Given the description of an element on the screen output the (x, y) to click on. 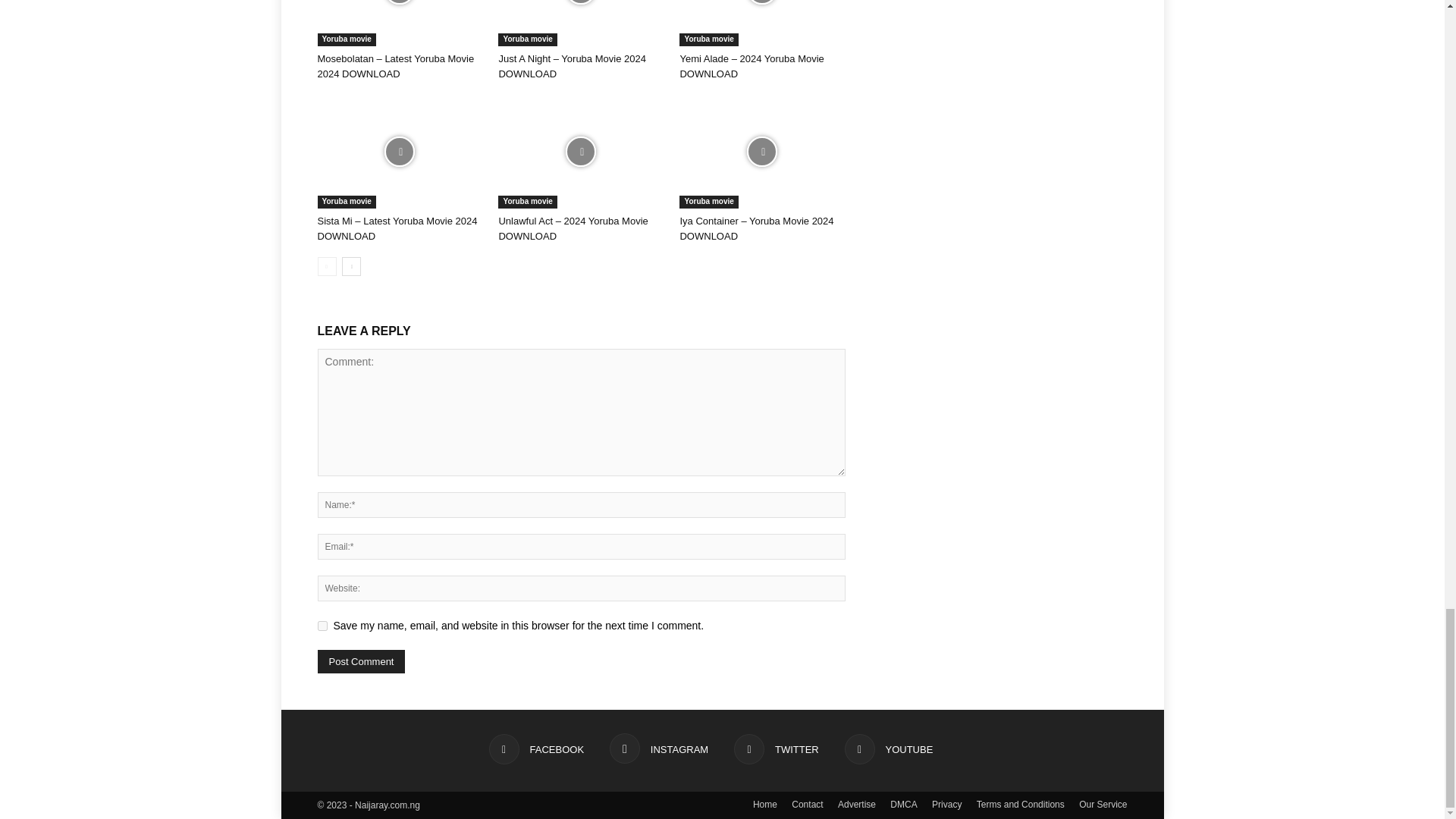
Post Comment (360, 661)
yes (321, 625)
